Given the description of an element on the screen output the (x, y) to click on. 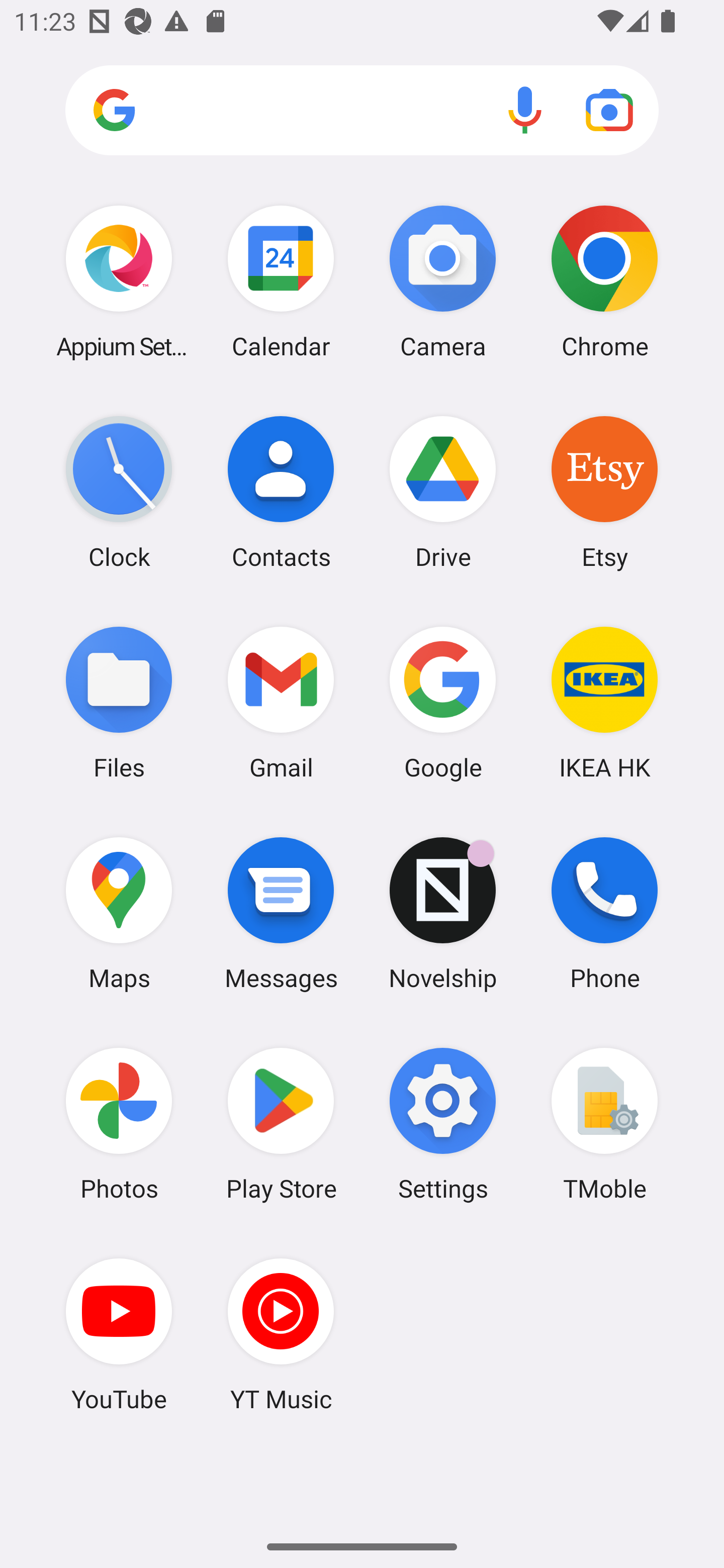
Search apps, web and more (361, 110)
Voice search (524, 109)
Google Lens (608, 109)
Appium Settings (118, 281)
Calendar (280, 281)
Camera (443, 281)
Chrome (604, 281)
Clock (118, 492)
Contacts (280, 492)
Drive (443, 492)
Etsy (604, 492)
Files (118, 702)
Gmail (280, 702)
Google (443, 702)
IKEA HK (604, 702)
Maps (118, 913)
Messages (280, 913)
Novelship Novelship has 2 notifications (443, 913)
Phone (604, 913)
Photos (118, 1124)
Play Store (280, 1124)
Settings (443, 1124)
TMoble (604, 1124)
YouTube (118, 1334)
YT Music (280, 1334)
